Given the description of an element on the screen output the (x, y) to click on. 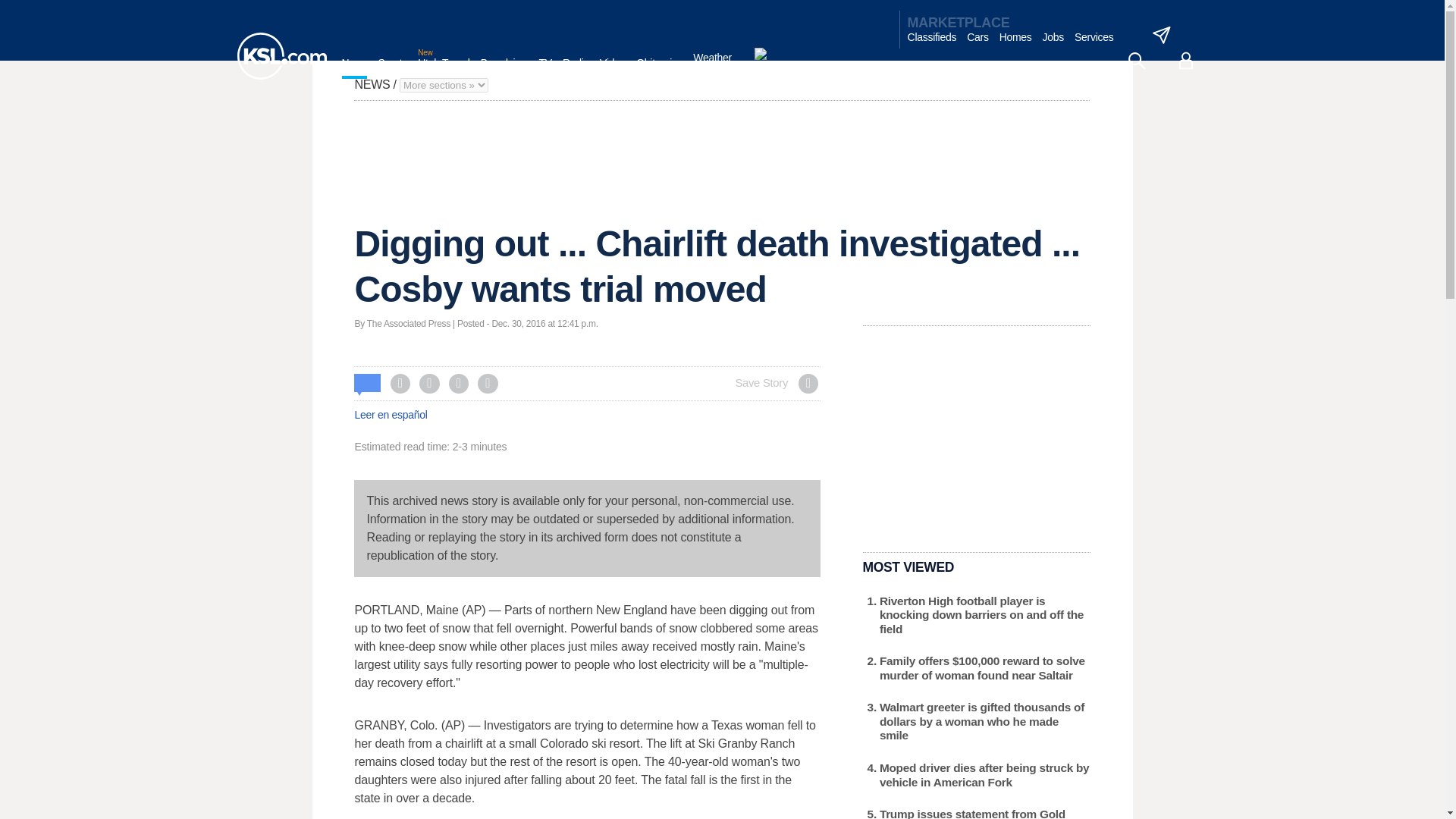
search (1135, 60)
account - logged out (1185, 60)
KSL homepage (280, 55)
